Given the description of an element on the screen output the (x, y) to click on. 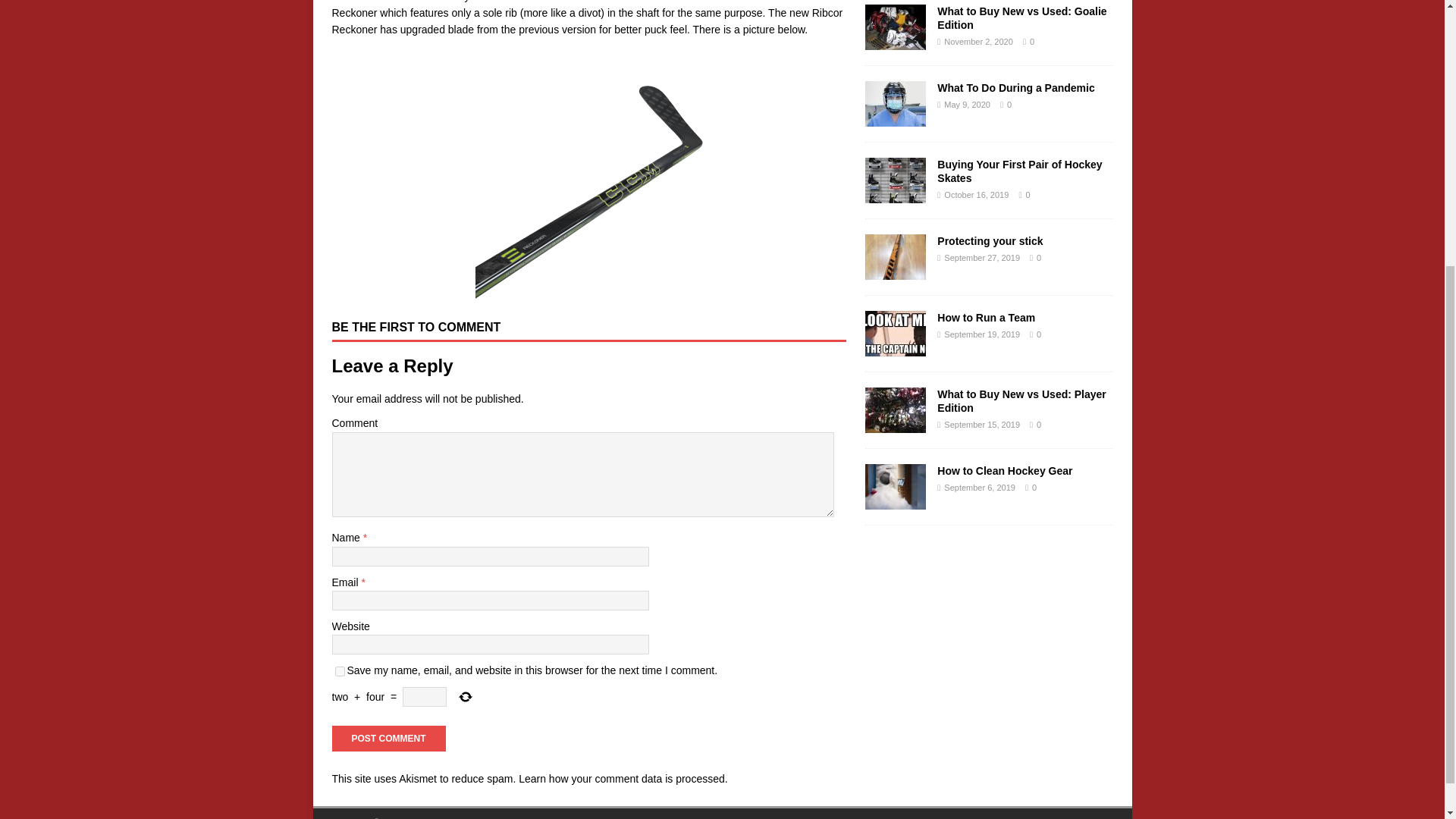
Buying Your First Pair of Hockey Skates (1019, 171)
yes (339, 671)
What to Buy New vs Used: Goalie Edition (1021, 17)
What To Do During a Pandemic (895, 118)
What to Buy New vs Used: Goalie Edition (895, 41)
What To Do During a Pandemic (1015, 87)
Buying Your First Pair of Hockey Skates (895, 194)
Post Comment (388, 738)
